Given the description of an element on the screen output the (x, y) to click on. 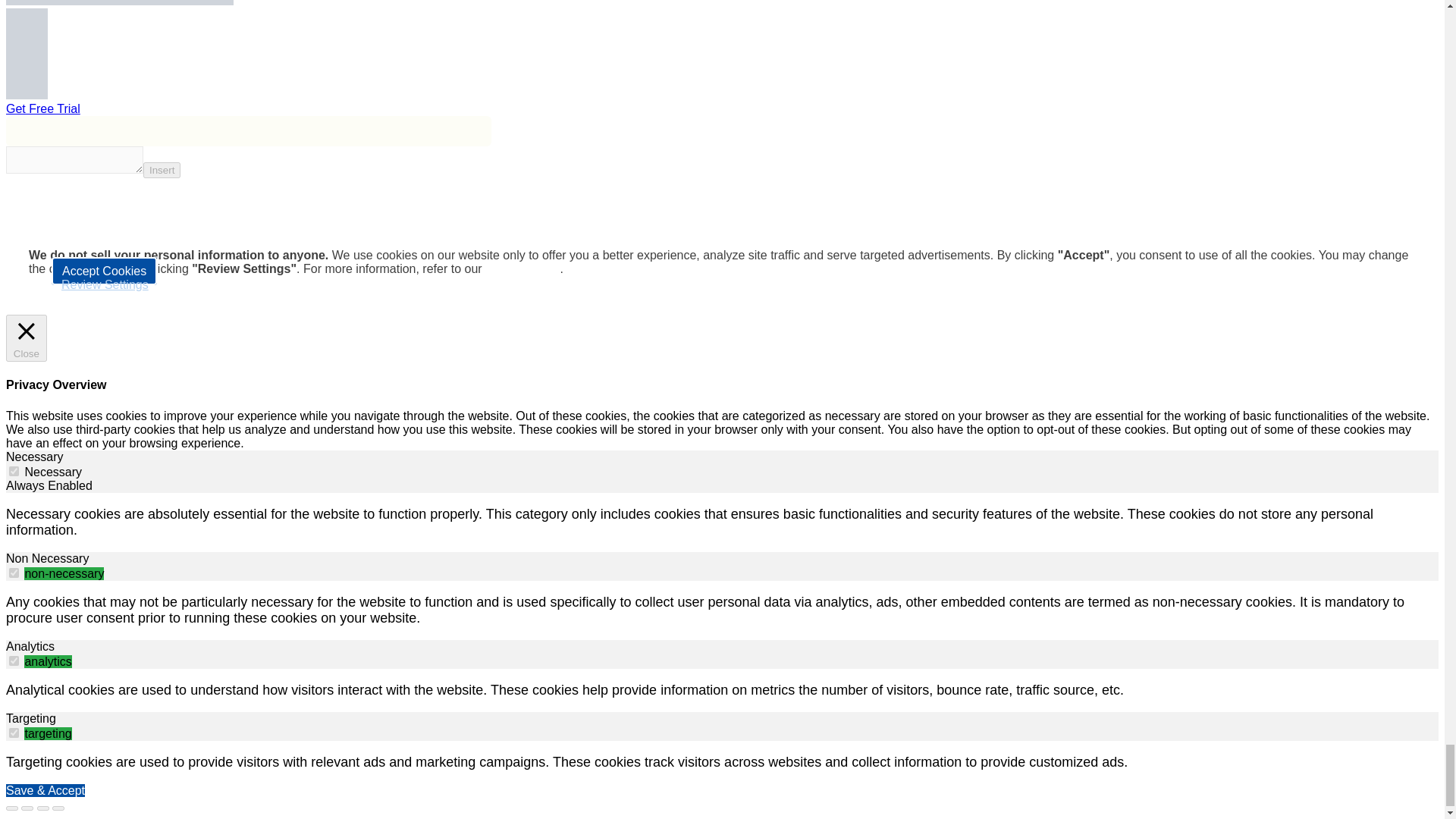
on (13, 470)
on (13, 660)
on (13, 732)
on (13, 573)
